Given the description of an element on the screen output the (x, y) to click on. 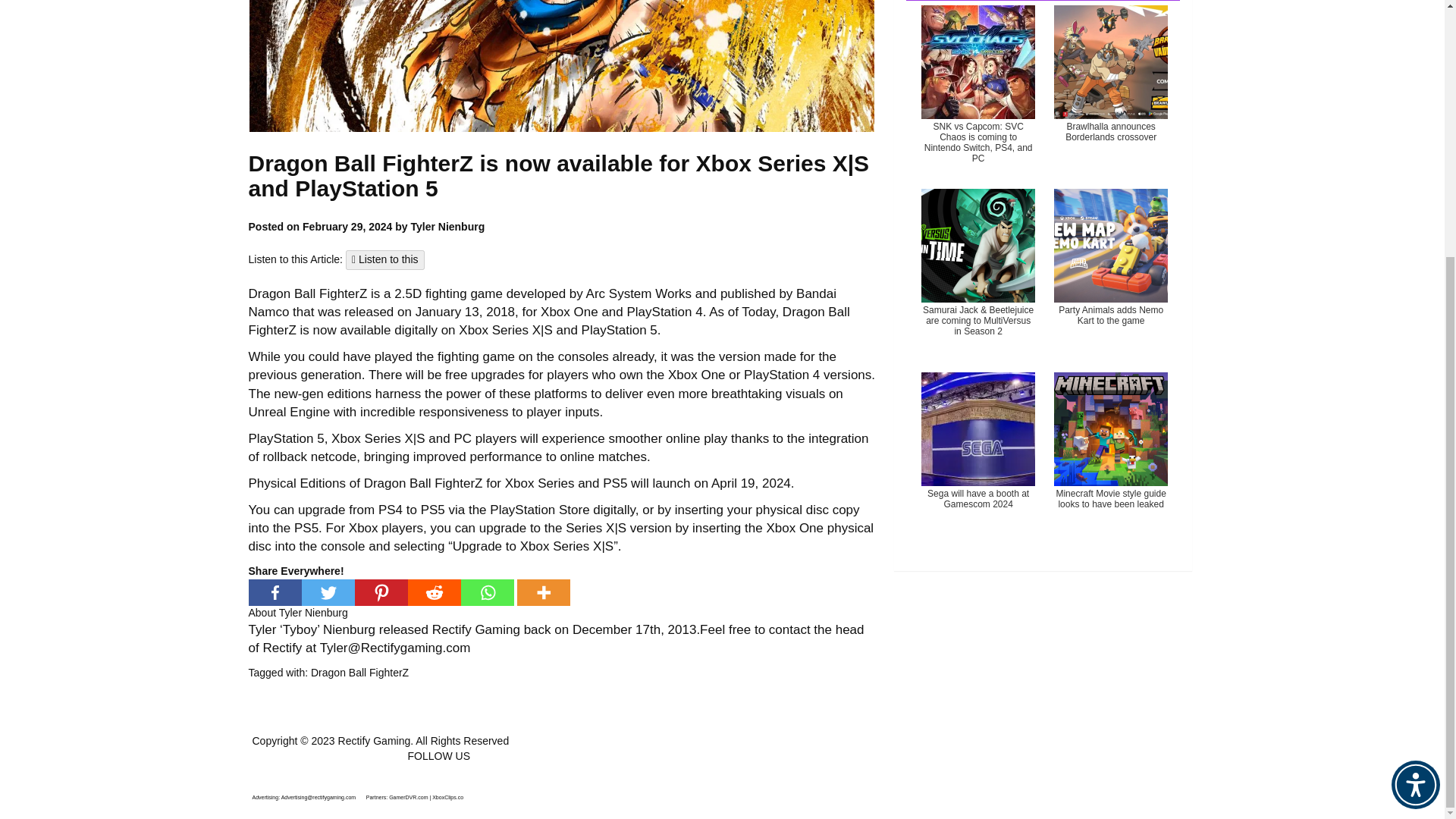
XboxClips.co (447, 797)
GamerDVR.com (408, 797)
Pinterest (381, 592)
Accessibility Menu (1415, 419)
Twitter (328, 592)
Dragon Ball FighterZ (360, 672)
Facebook (274, 592)
Tyler Nienburg (313, 612)
